Given the description of an element on the screen output the (x, y) to click on. 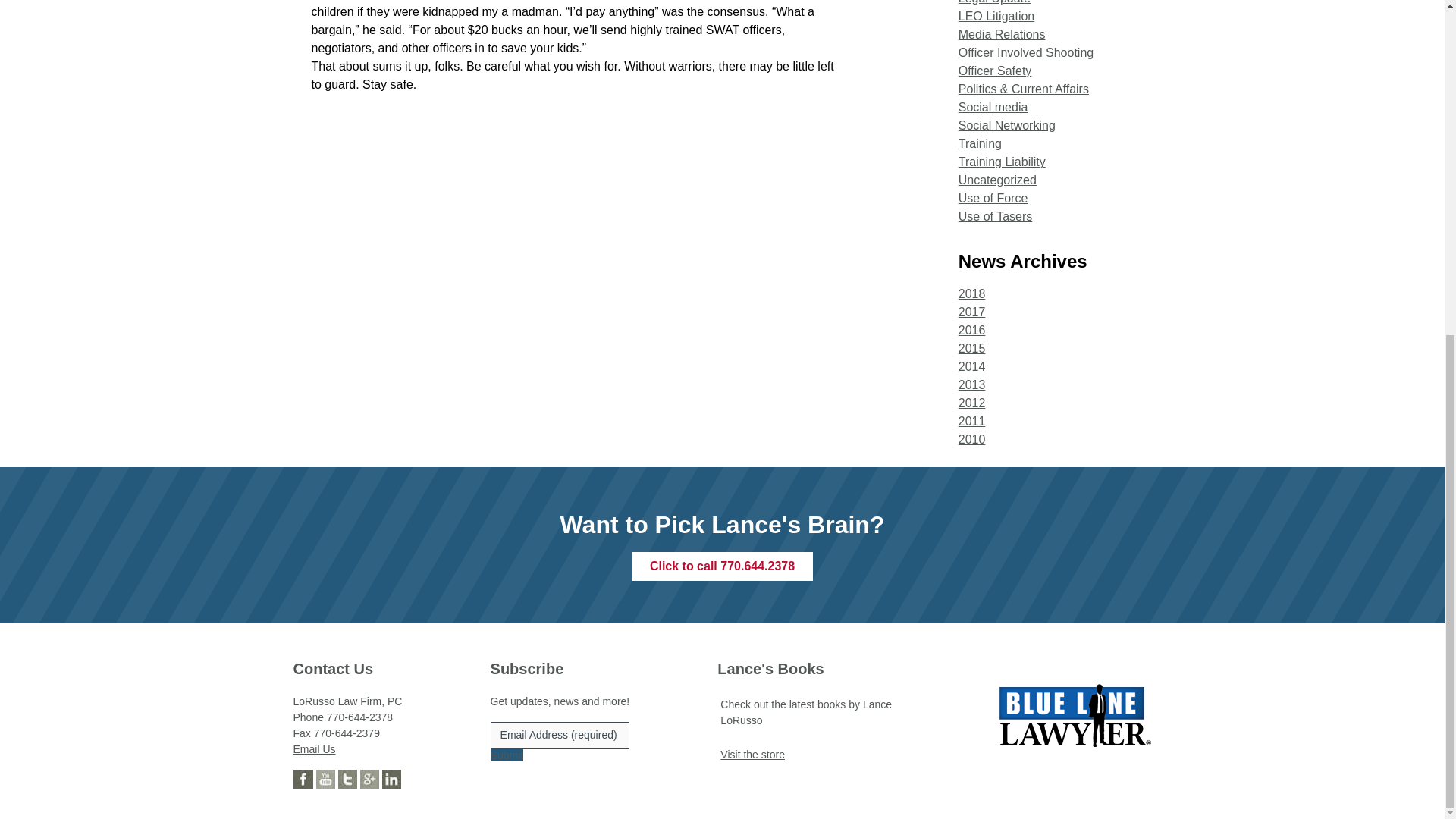
Officer Safety (995, 70)
LEO Litigation (996, 15)
Officer Involved Shooting (1025, 51)
Social media (992, 106)
Social Networking (1006, 124)
Legal Update (994, 2)
Submit (507, 755)
Media Relations (1001, 33)
